Given the description of an element on the screen output the (x, y) to click on. 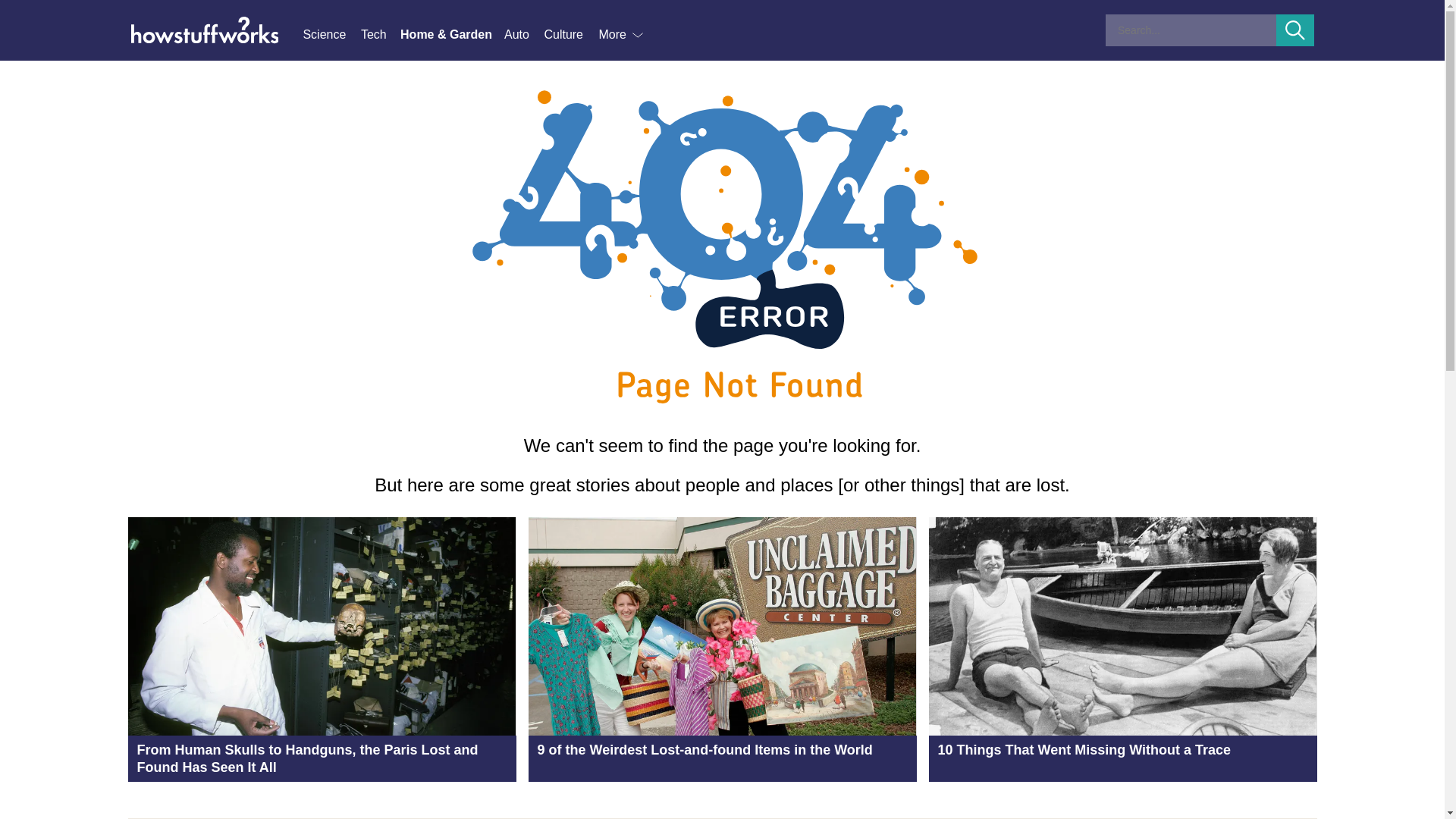
Auto (523, 34)
Science (330, 34)
Tech (380, 34)
9 of the Weirdest Lost-and-found Items in the World (721, 649)
Submit Search (1295, 29)
Culture (570, 34)
More (621, 34)
10 Things That Went Missing Without a Trace (1122, 649)
